Given the description of an element on the screen output the (x, y) to click on. 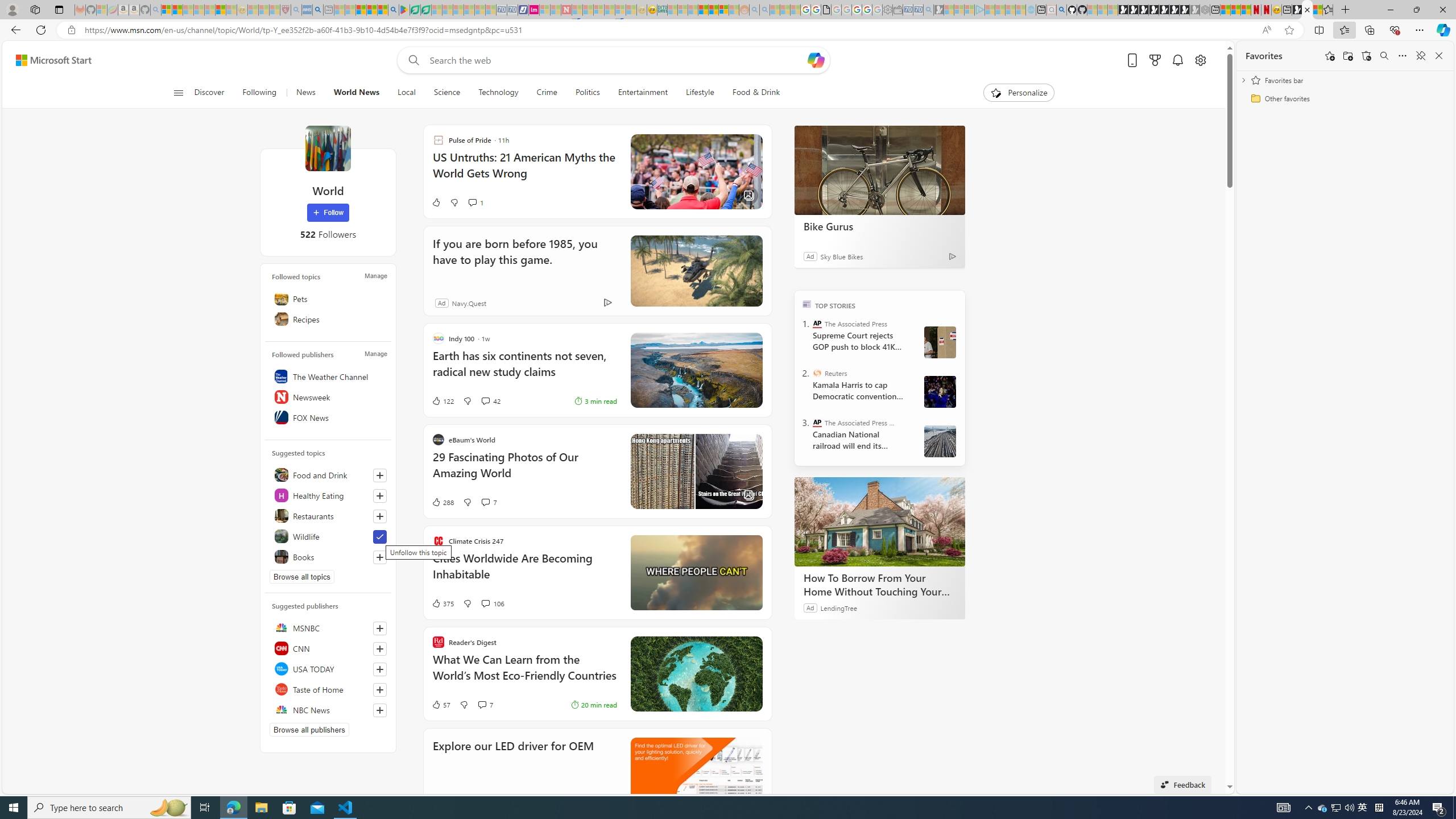
Kinda Frugal - MSN (713, 9)
Unpin favorites (1420, 55)
View comments 7 Comment (481, 704)
Bike Gurus (879, 169)
57 Like (440, 704)
Navy.Quest (468, 302)
